Given the description of an element on the screen output the (x, y) to click on. 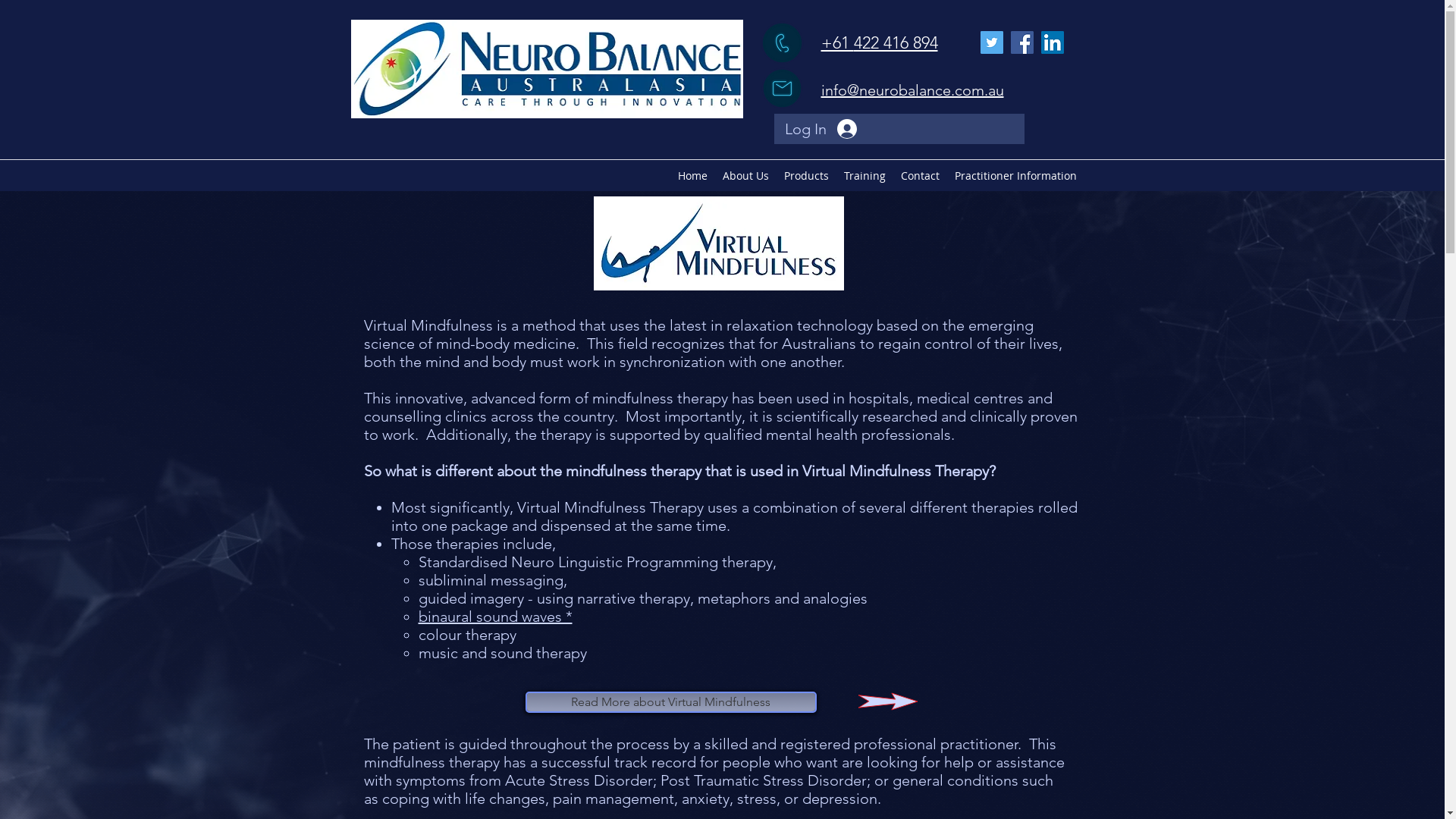
Read More about Virtual Mindfulness Element type: text (669, 701)
Log In Element type: text (819, 128)
+61 422 416 894 Element type: text (878, 42)
About Us Element type: text (744, 175)
Home Element type: text (692, 175)
Practitioner Information Element type: text (1014, 175)
Products Element type: text (806, 175)
Training Element type: text (863, 175)
info@neurobalance.com.au Element type: text (911, 90)
Contact Element type: text (920, 175)
binaural sound waves * Element type: text (495, 616)
